Given the description of an element on the screen output the (x, y) to click on. 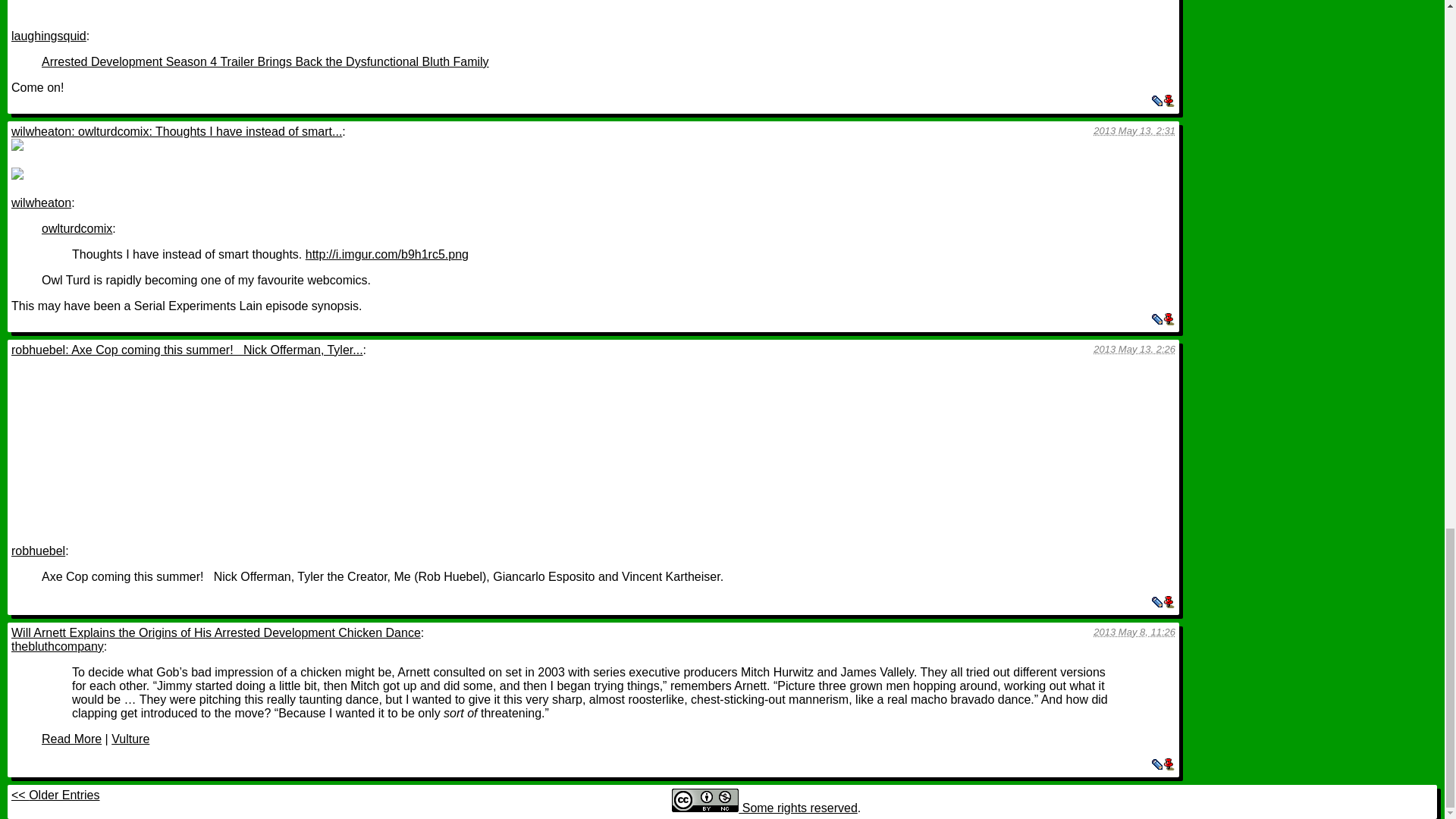
2013-05-08 18:26:23 PST (1133, 632)
2013-05-13 21:31:35 PST (1133, 130)
2013-05-13 21:26:45 PST (1133, 348)
